Given the description of an element on the screen output the (x, y) to click on. 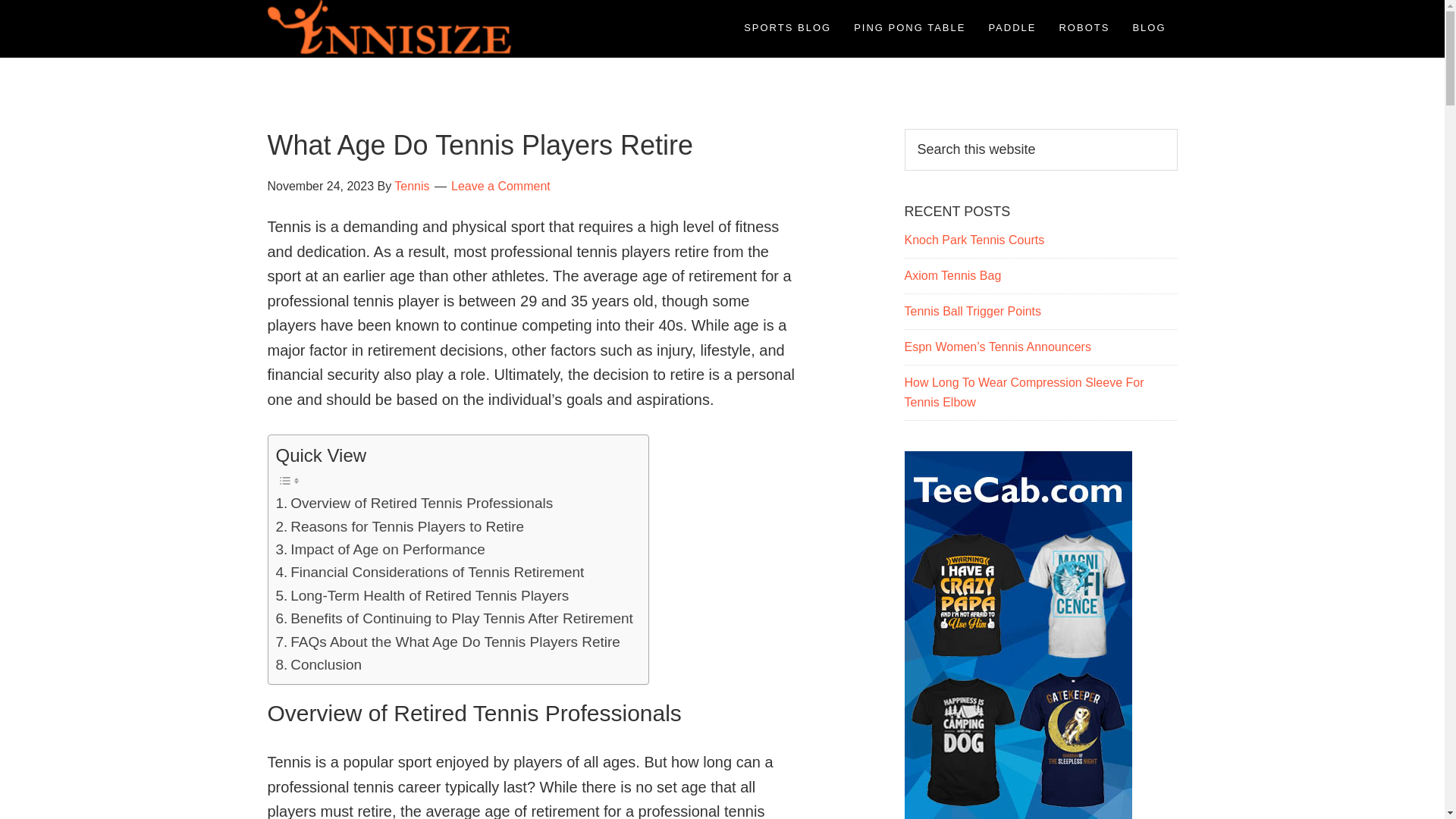
Impact of Age on Performance (380, 549)
SPORTS BLOG (787, 27)
PING PONG TABLE (909, 27)
 Reasons for Tennis Players to Retire  (400, 526)
FAQs About the What Age Do Tennis Players Retire (448, 641)
 Impact of Age on Performance  (380, 549)
Knoch Park Tennis Courts (973, 239)
Leave a Comment (500, 185)
How Long To Wear Compression Sleeve For Tennis Elbow (1023, 391)
 Financial Considerations of Tennis Retirement  (430, 572)
FAQs About the What Age Do Tennis Players Retire (448, 641)
Benefits of Continuing to Play Tennis After Retirement (454, 618)
Overview of Retired Tennis Professionals (414, 503)
